Given the description of an element on the screen output the (x, y) to click on. 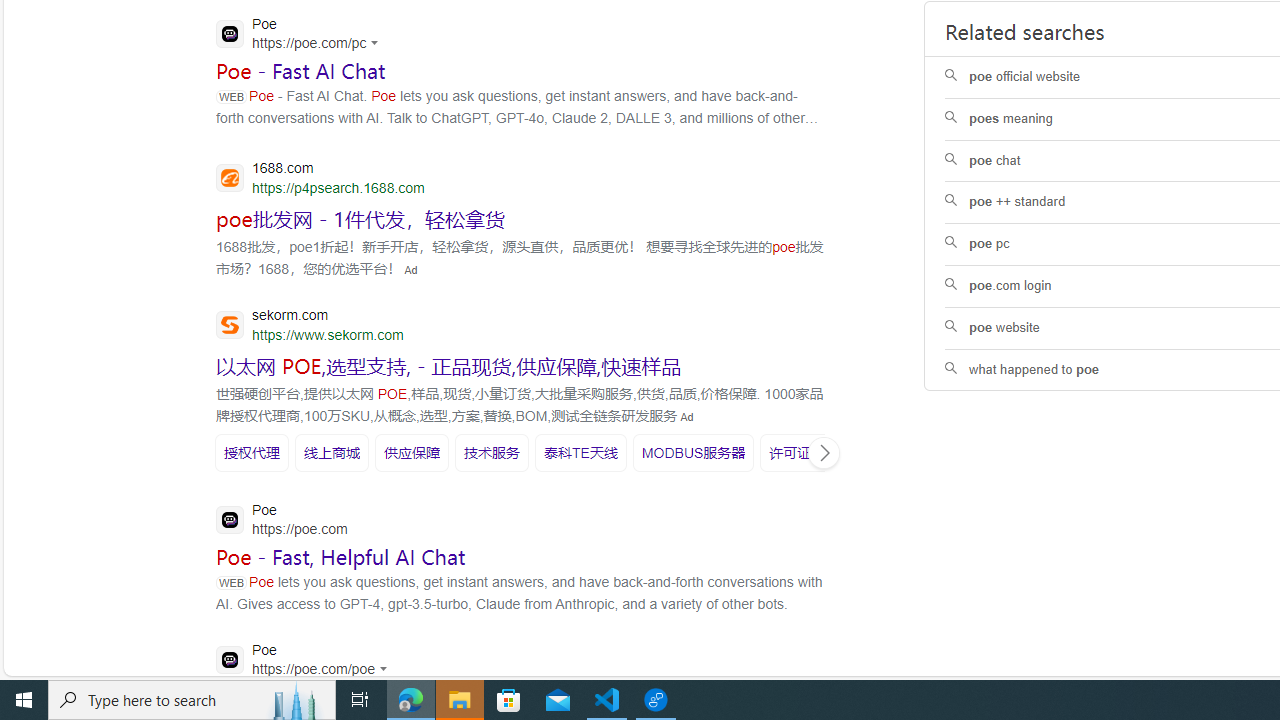
Poe (307, 661)
SERP,5597 (412, 452)
Poe - Fast AI Chat (301, 71)
SERP,5600 (693, 452)
Click to scroll right (823, 452)
SERP,5595 (252, 452)
SERP,5596 (331, 452)
SERP,5601 (804, 452)
SERP,5598 (491, 452)
SERP,5588 (360, 218)
SERP,5599 (581, 452)
Poe - Fast, Helpful AI Chat (340, 557)
